Given the description of an element on the screen output the (x, y) to click on. 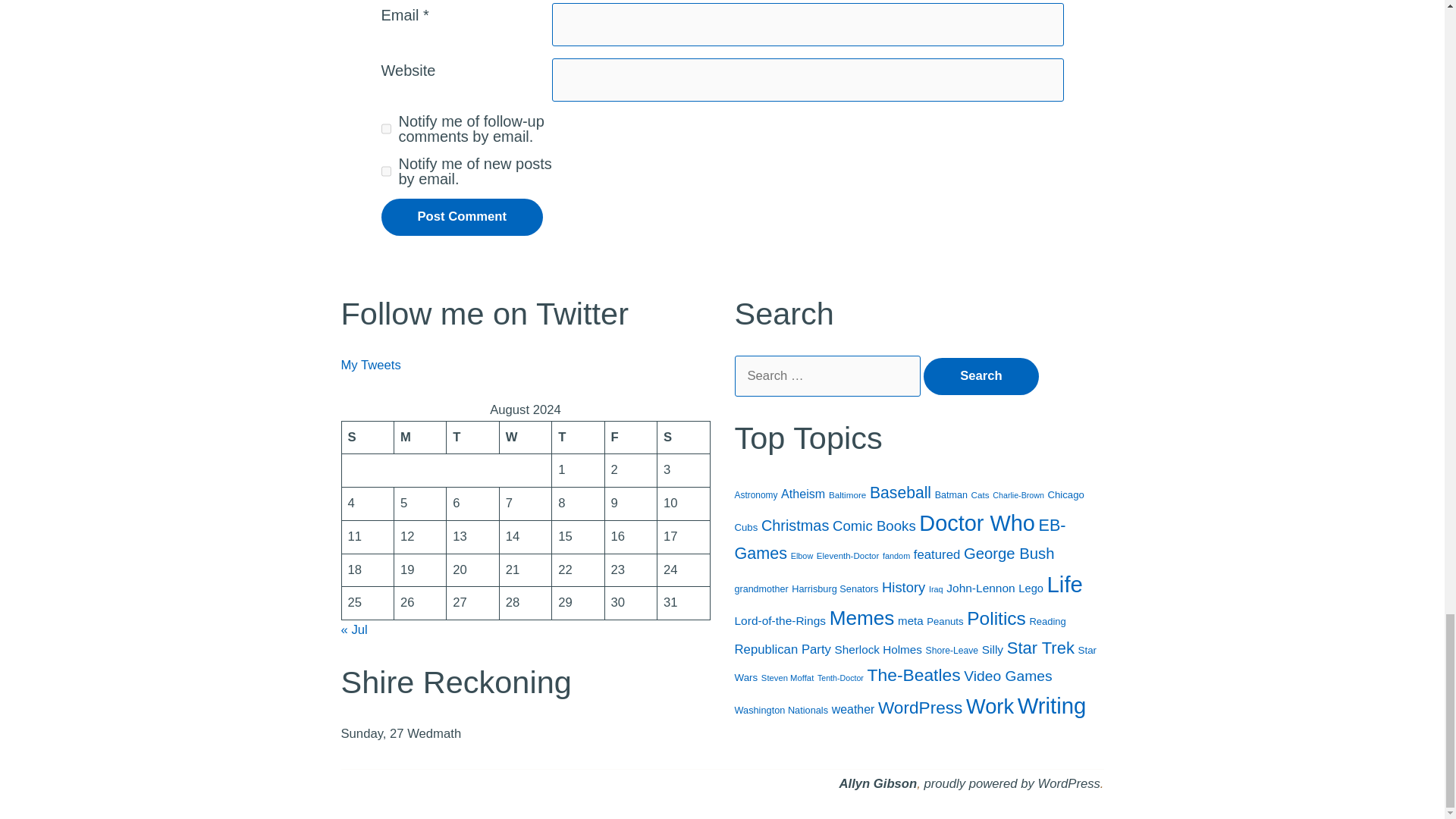
Monday (419, 437)
Sunday (366, 437)
Thursday (577, 437)
Wednesday (525, 437)
Friday (630, 437)
Post Comment (461, 217)
Tuesday (472, 437)
Search (981, 375)
Search (981, 375)
